Given the description of an element on the screen output the (x, y) to click on. 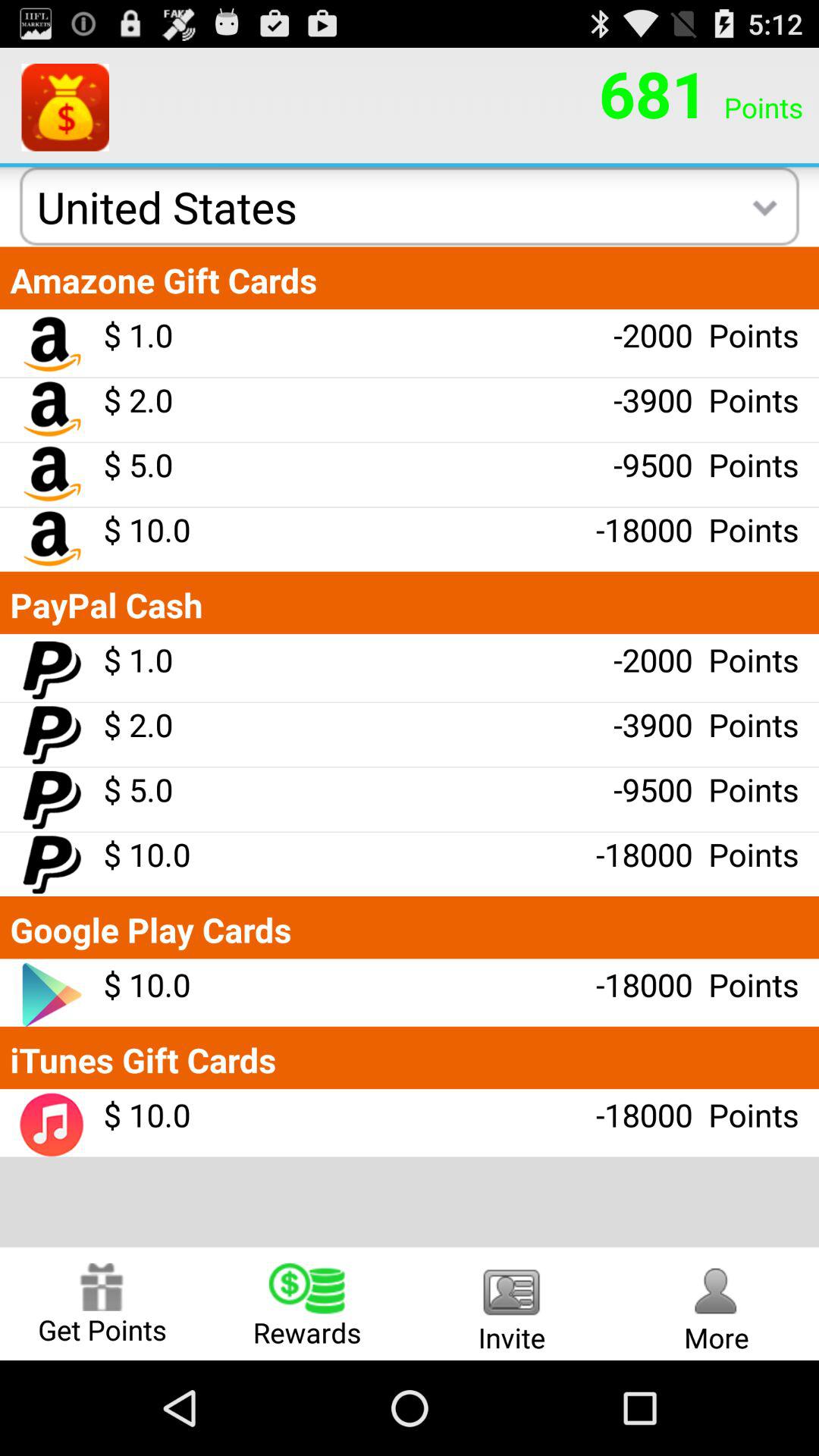
turn off item next to more icon (511, 1303)
